Given the description of an element on the screen output the (x, y) to click on. 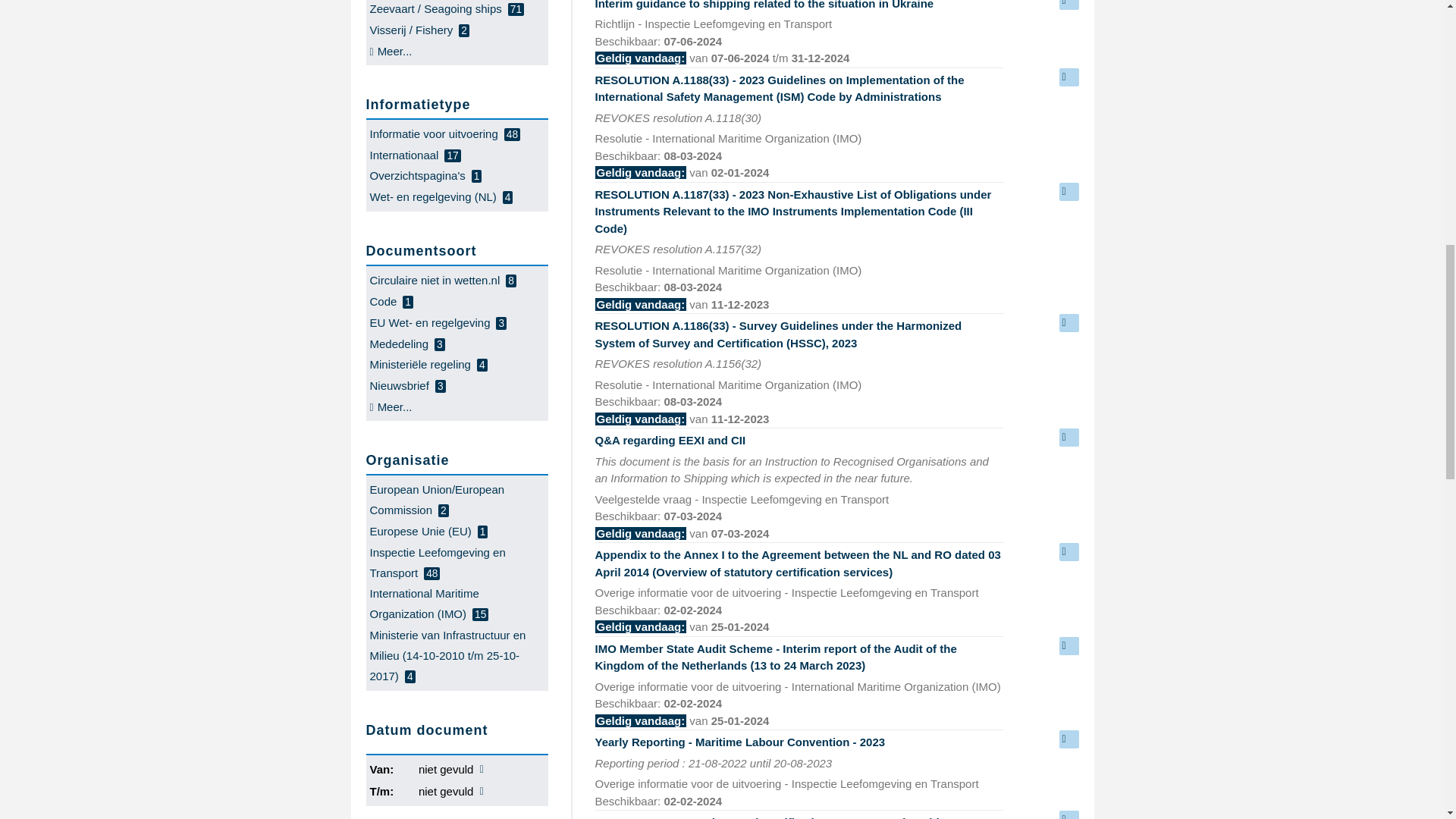
Toon samenvatting (1068, 739)
samenvatting (1068, 739)
Toon samenvatting (1068, 76)
Toon samenvatting (1068, 437)
samenvatting (1068, 191)
Toon samenvatting (1068, 551)
samenvatting (1068, 4)
Toon samenvatting (1068, 4)
samenvatting (1068, 437)
Toon samenvatting (1068, 322)
samenvatting (1068, 551)
samenvatting (1068, 76)
Toon samenvatting (1068, 191)
